Given the description of an element on the screen output the (x, y) to click on. 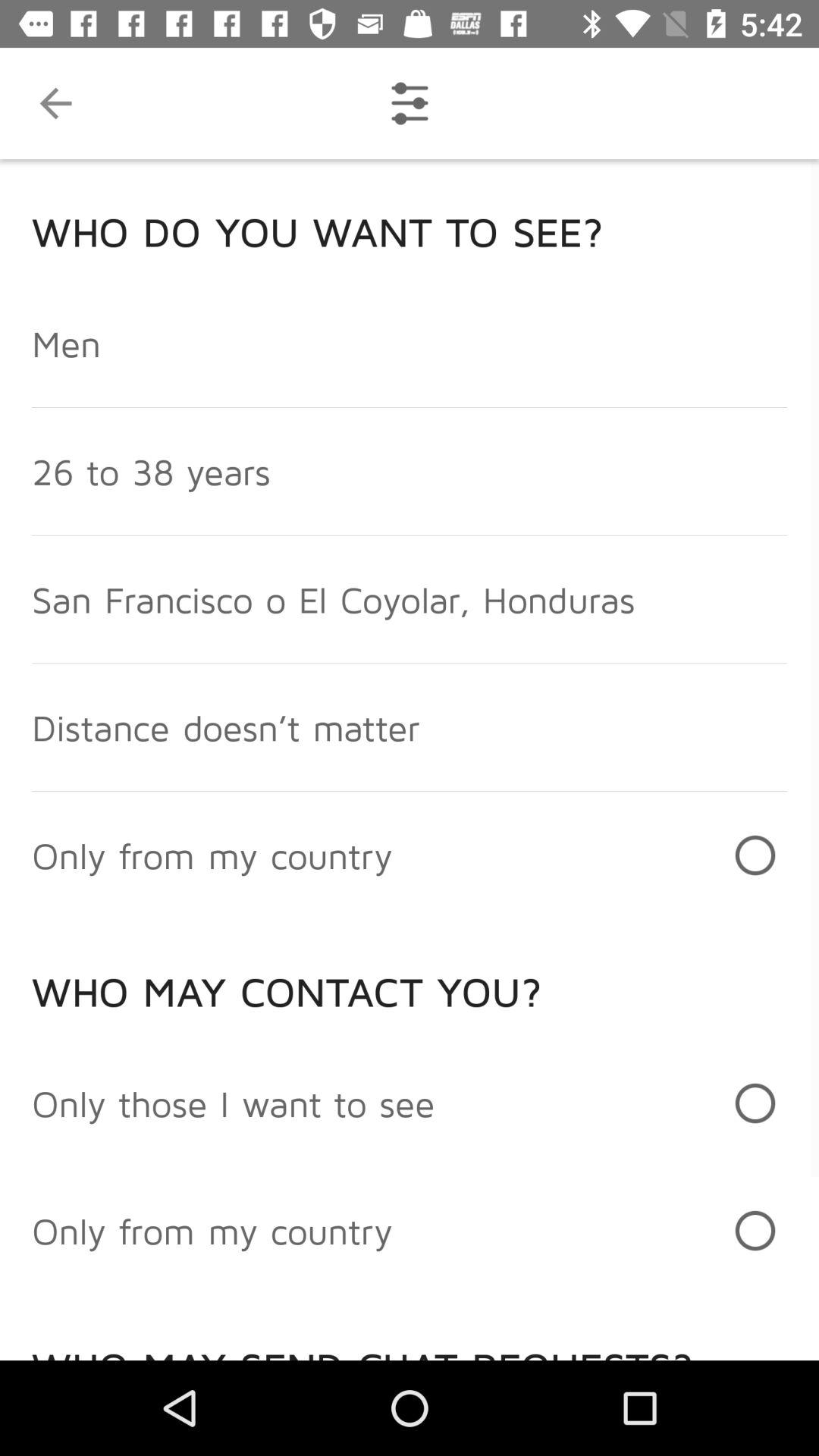
swipe to the distance doesn t item (225, 727)
